Given the description of an element on the screen output the (x, y) to click on. 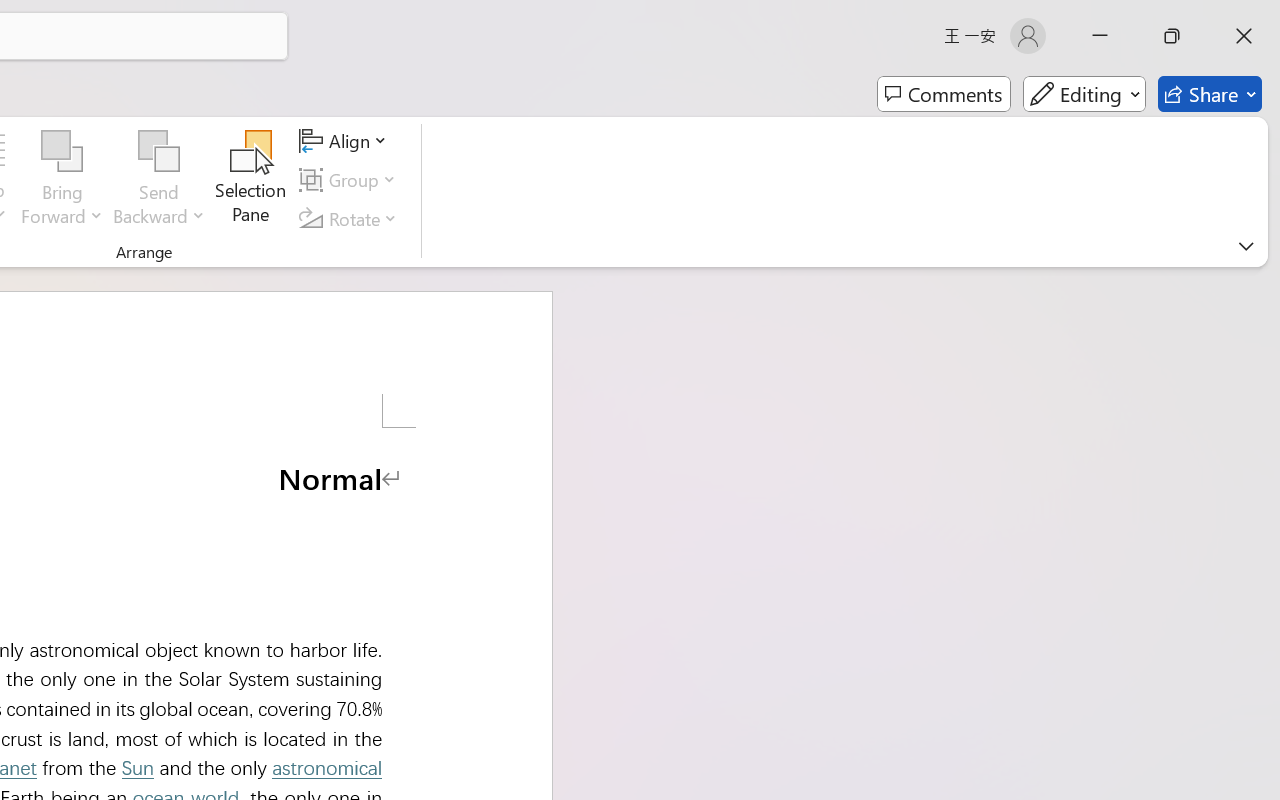
Send Backward (159, 151)
